Given the description of an element on the screen output the (x, y) to click on. 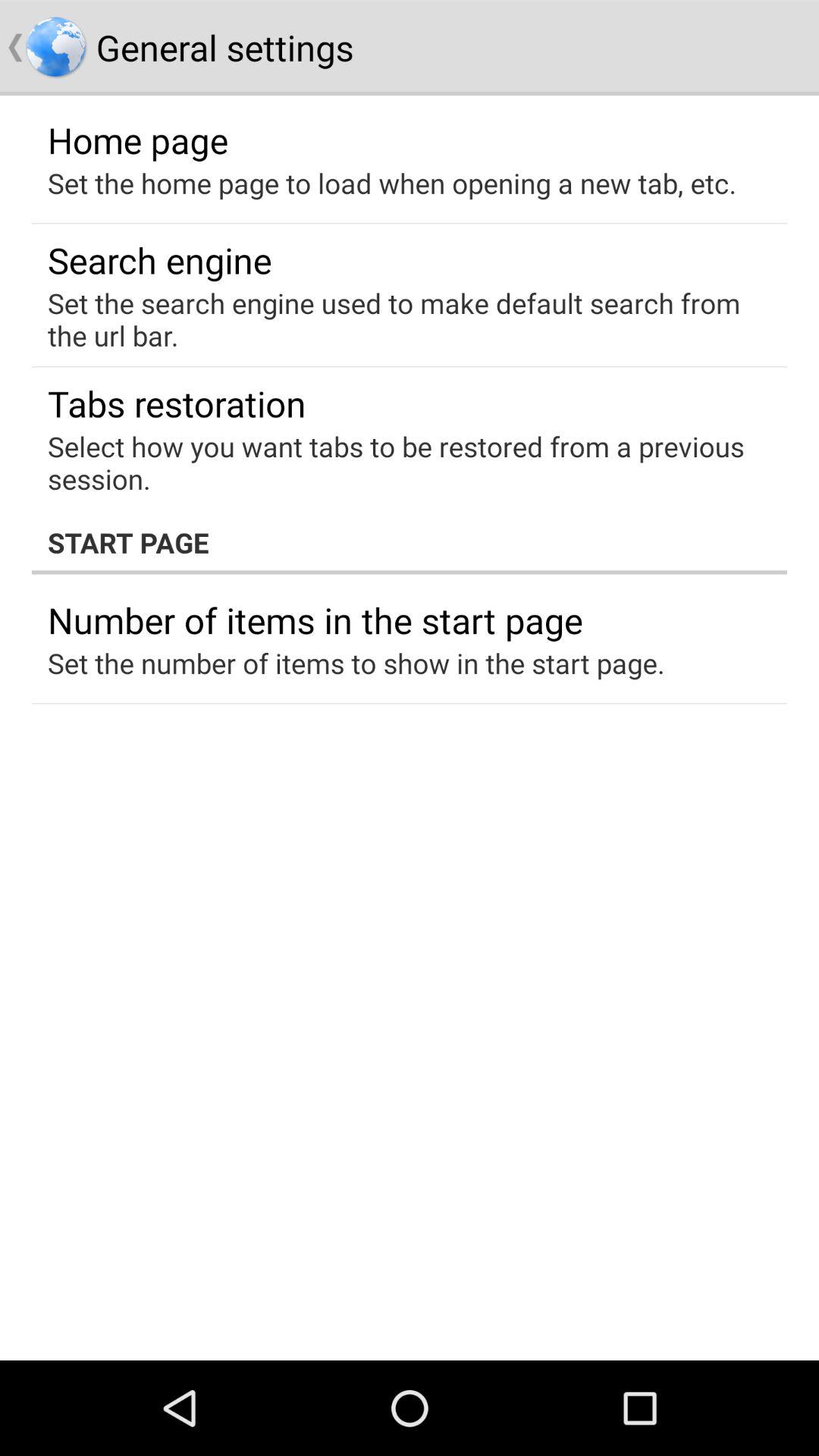
select app below the tabs restoration (399, 462)
